Given the description of an element on the screen output the (x, y) to click on. 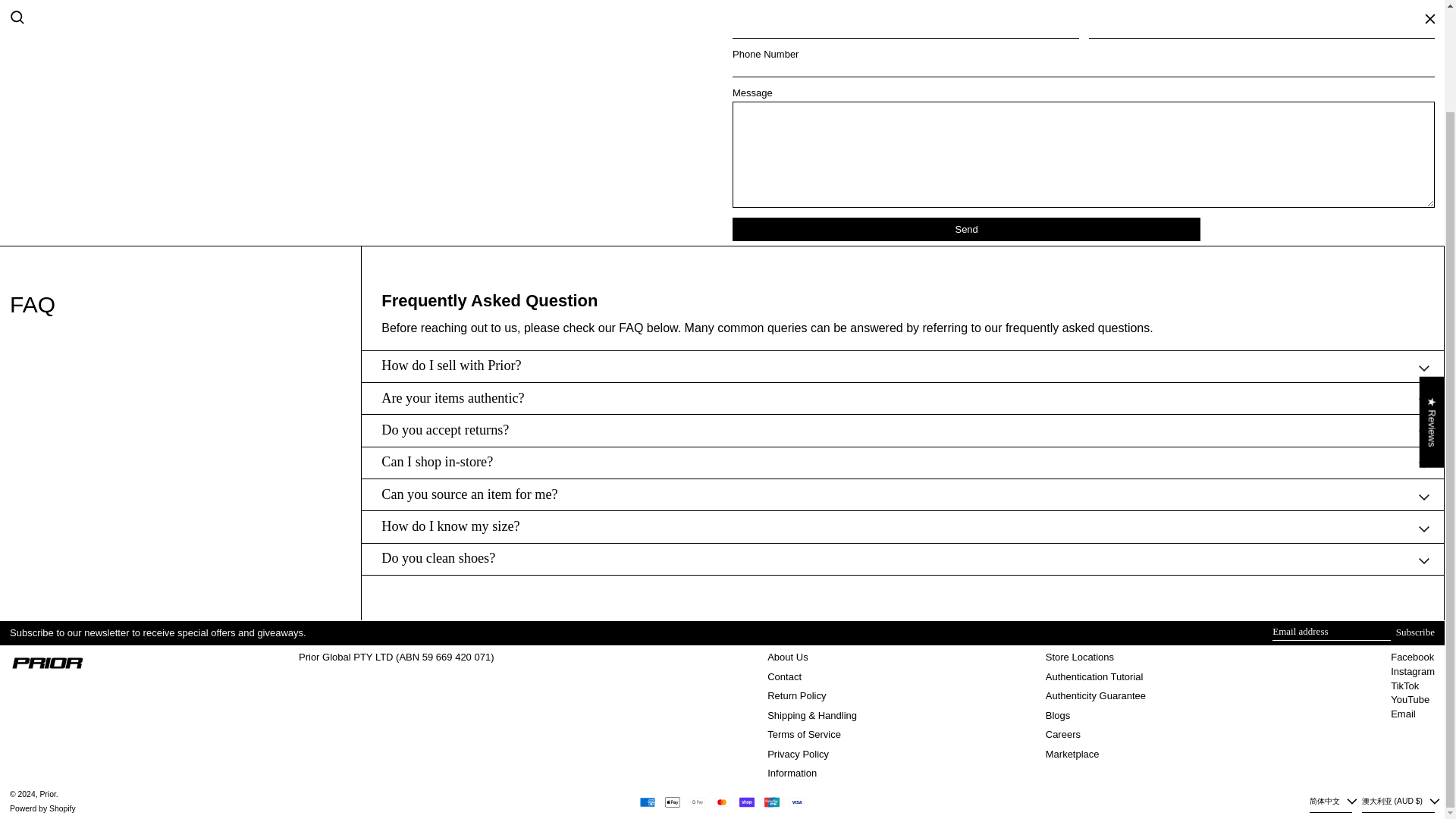
Apple Pay (672, 801)
Mastercard (721, 801)
Shop Pay (746, 801)
Send (965, 228)
Google Pay (697, 801)
American Express (647, 801)
